Given the description of an element on the screen output the (x, y) to click on. 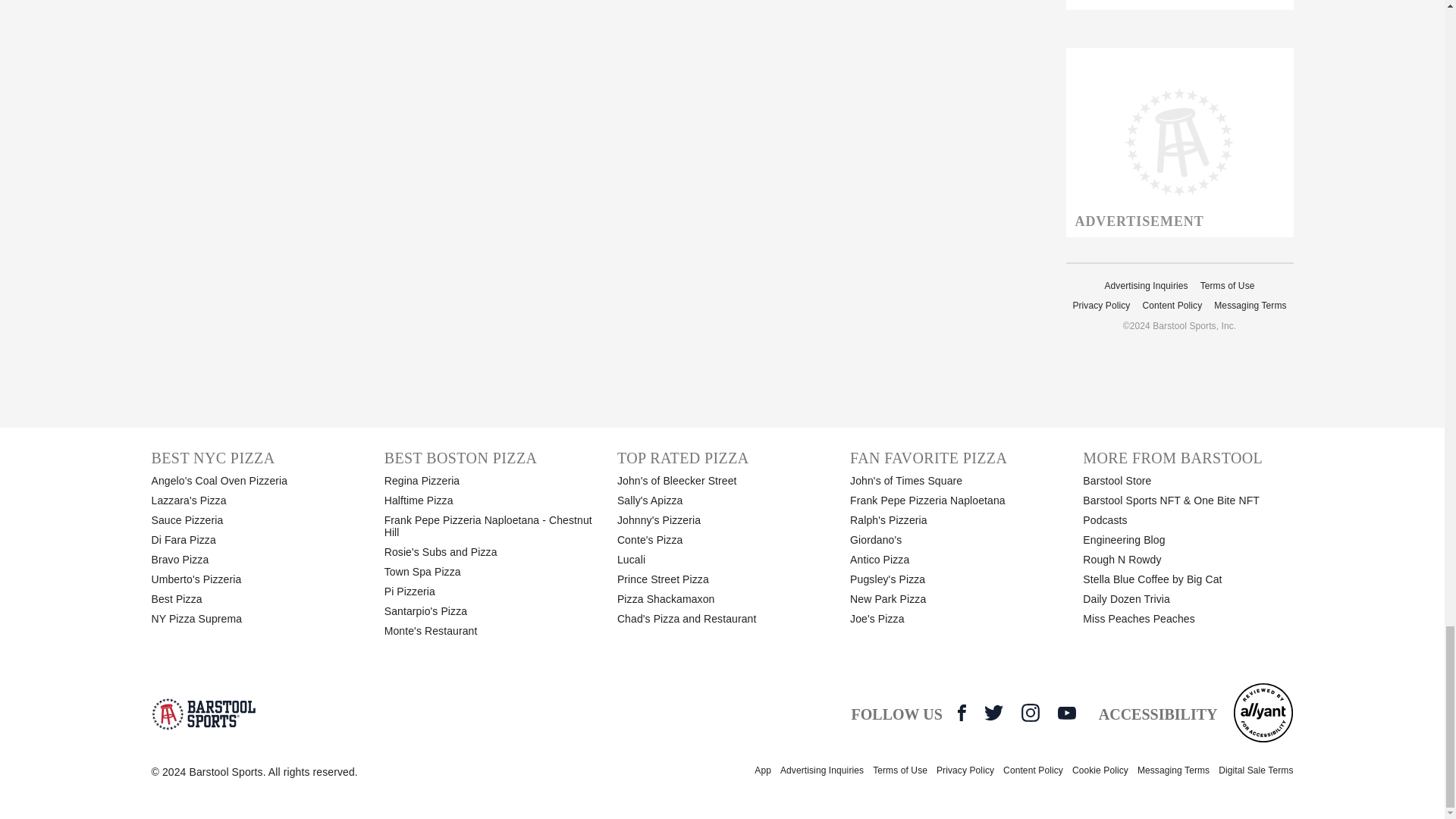
Reviewed by Allyant for accessibility (1263, 712)
Twitter Icon (993, 712)
Instagram Icon (1030, 712)
YouTube Icon (1066, 712)
